Given the description of an element on the screen output the (x, y) to click on. 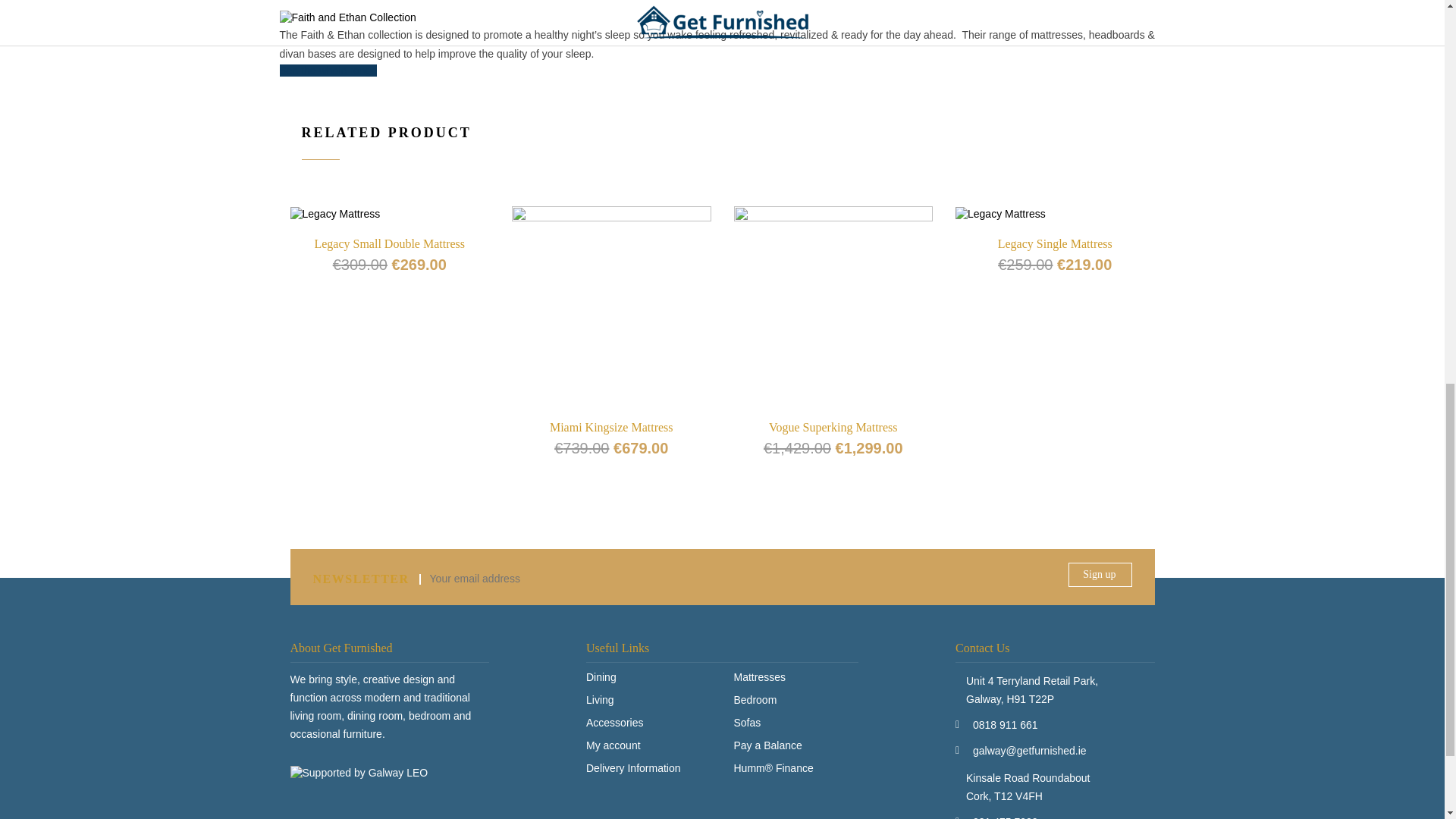
Sign up (1099, 574)
Faith and Ethan Collection (346, 17)
